Given the description of an element on the screen output the (x, y) to click on. 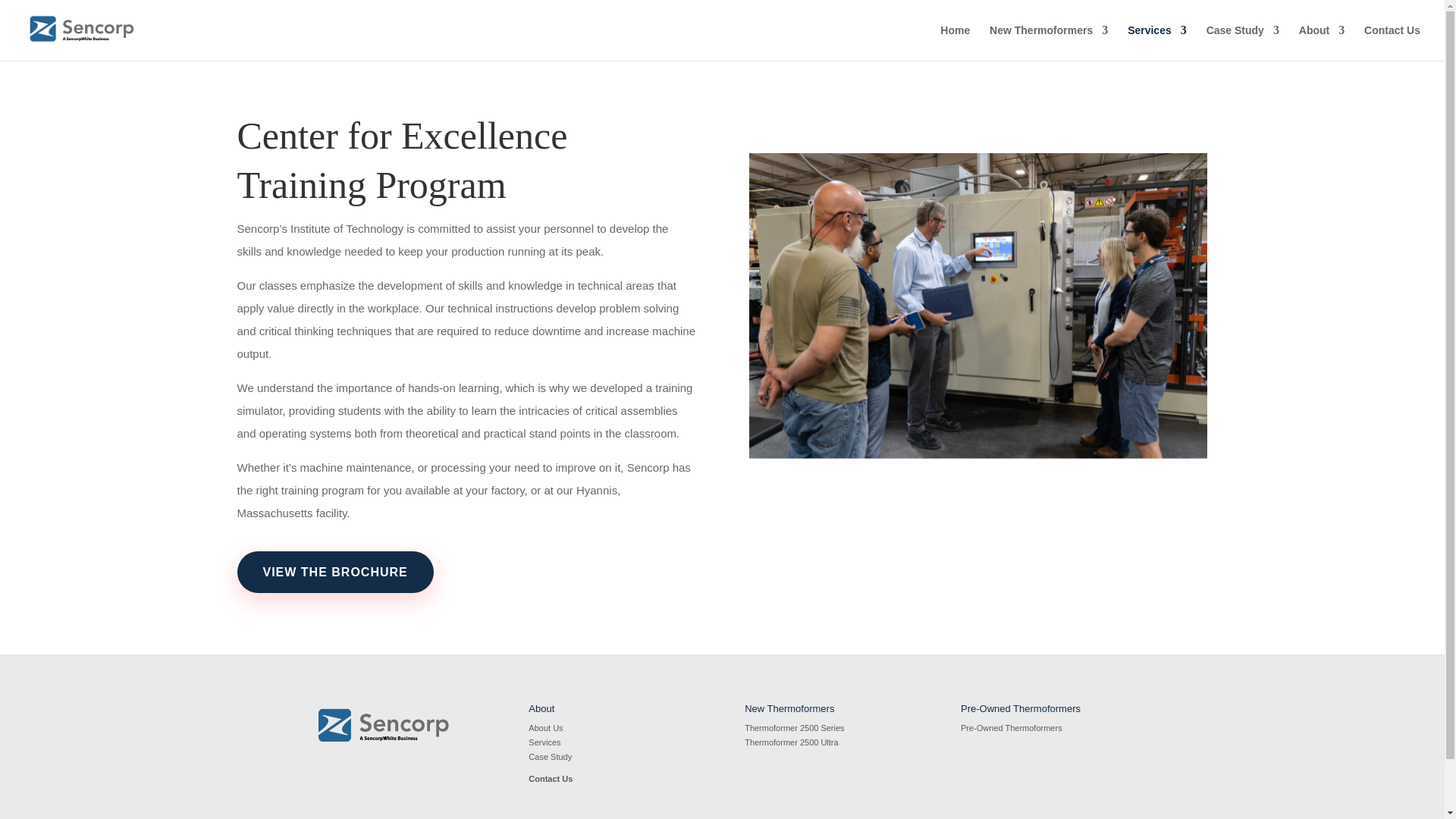
Services (1156, 42)
About Us (545, 727)
Case Study (550, 756)
Contact Us (1392, 42)
Case Study (1243, 42)
Thermoformer 2500 Ultra (791, 741)
Thermoformer 2500 Series (794, 727)
Pre-Owned Thermoformers (1011, 727)
Contact Us (550, 777)
Services (544, 741)
About (1320, 42)
VIEW THE BROCHURE (333, 571)
New Thermoformers (1049, 42)
